Given the description of an element on the screen output the (x, y) to click on. 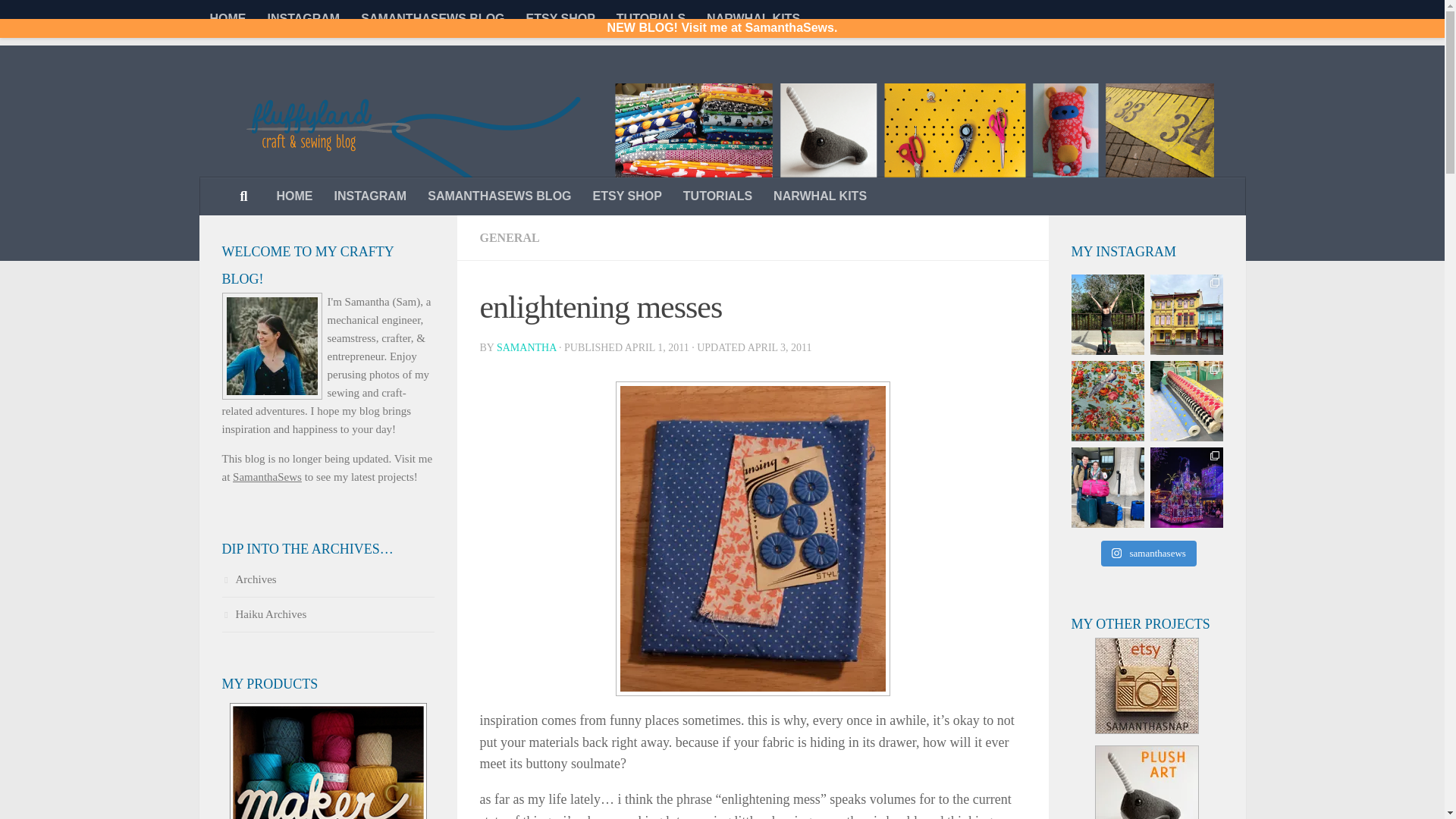
SamanthaSews creativity and sewing blog (432, 18)
INSTAGRAM (369, 196)
SAMANTHASEWS BLOG (498, 196)
NARWHAL KITS (819, 196)
HOME (227, 18)
SAMANTHA (526, 347)
Posts by Samantha (526, 347)
TUTORIALS (650, 18)
HOME (293, 196)
SamanthaSews (266, 476)
